Given the description of an element on the screen output the (x, y) to click on. 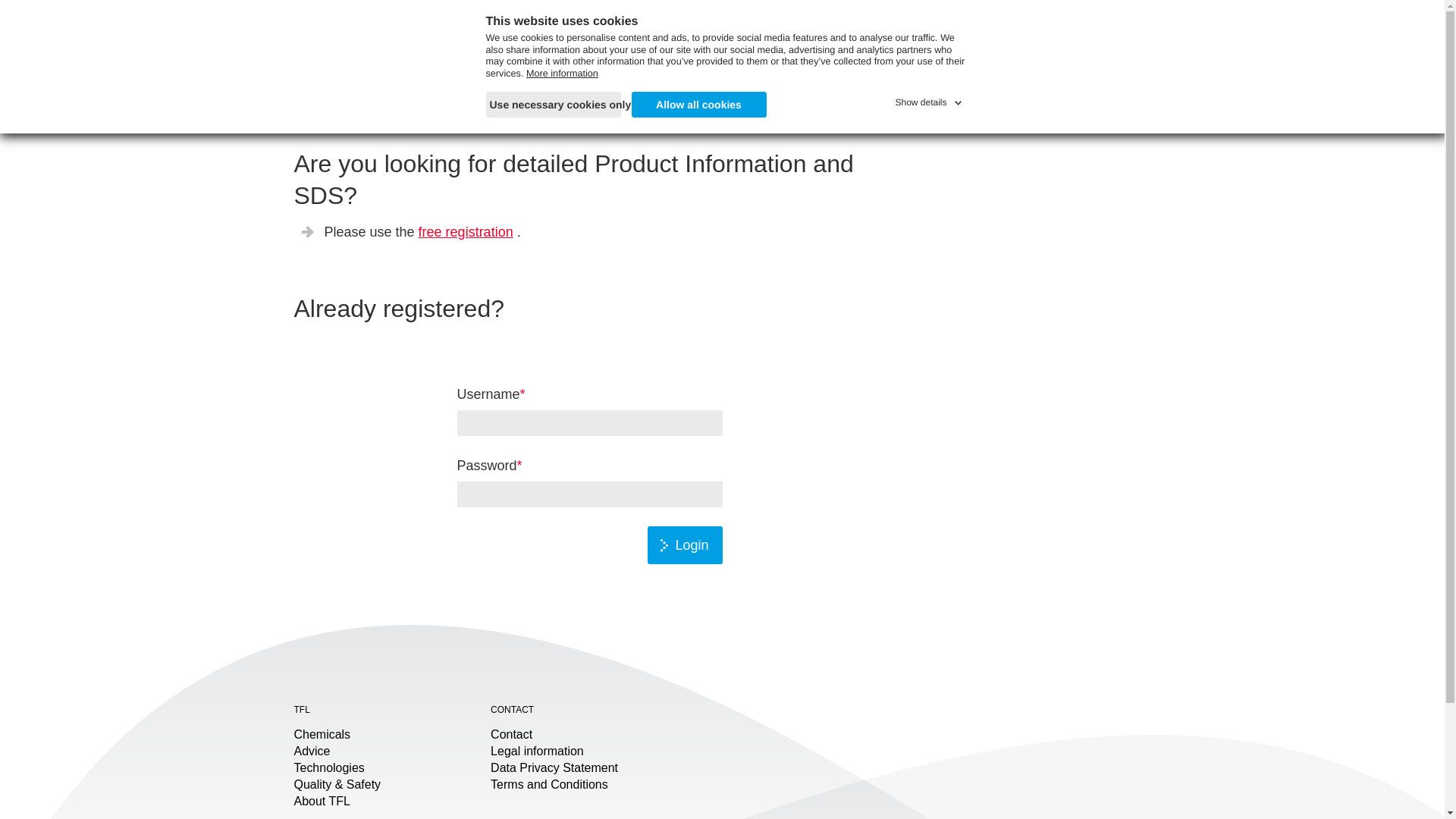
Show details (929, 99)
Use necessary cookies only (552, 104)
Allow all cookies (697, 104)
More information (561, 72)
